Given the description of an element on the screen output the (x, y) to click on. 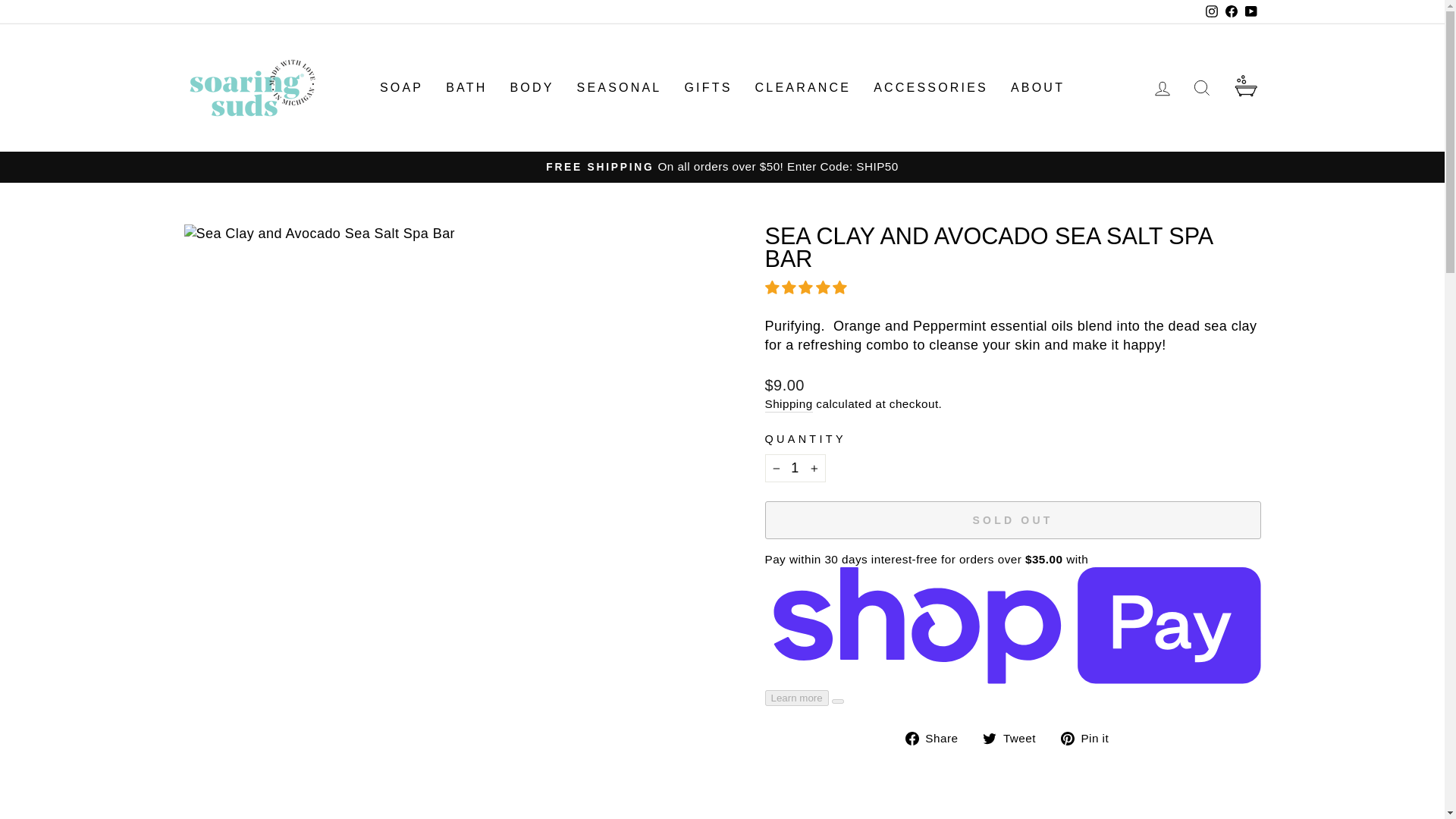
Pin on Pinterest (1090, 737)
Share on Facebook (937, 737)
Tweet on Twitter (1014, 737)
1 (794, 468)
